Given the description of an element on the screen output the (x, y) to click on. 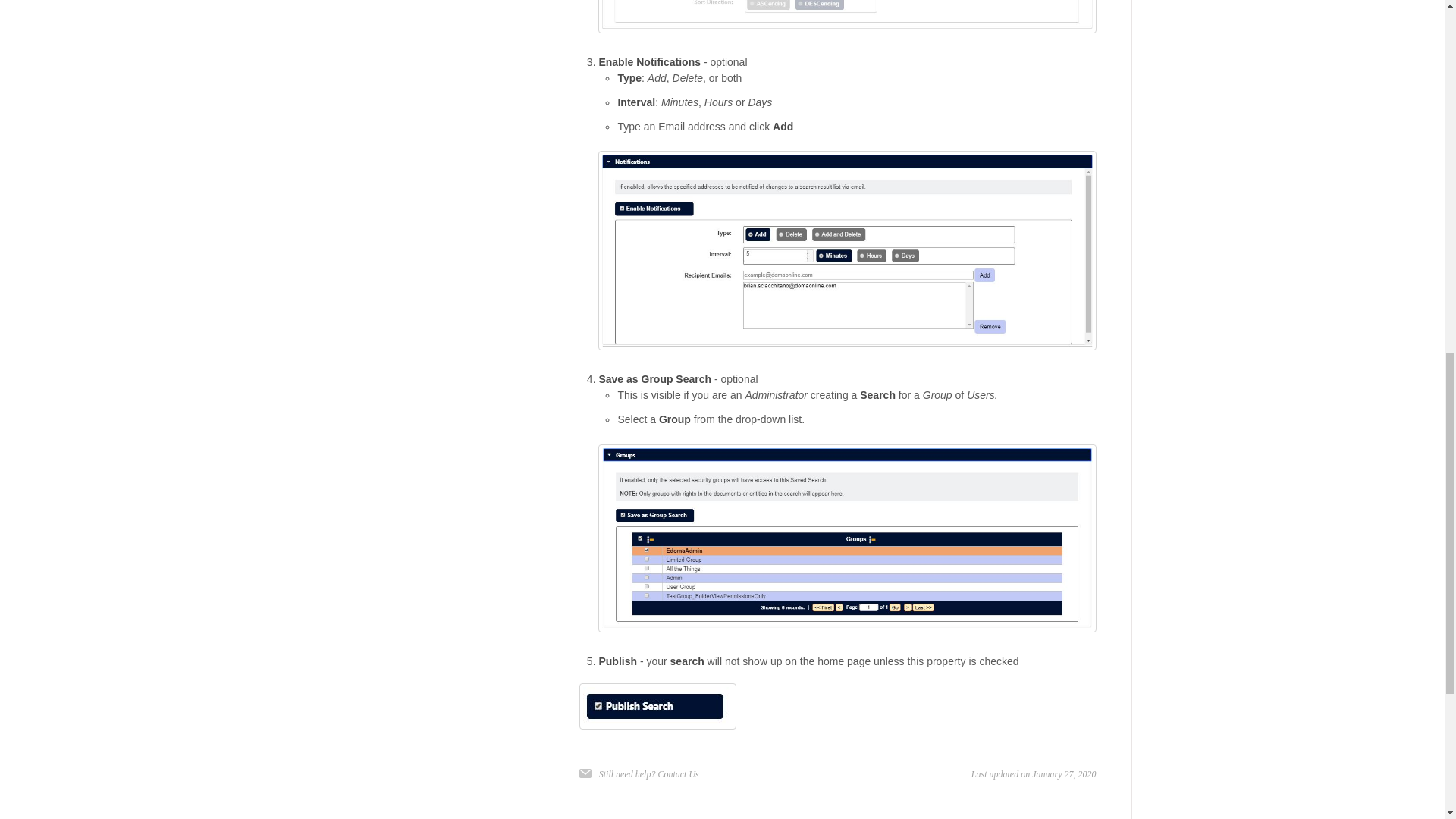
Contact Us (678, 774)
